Given the description of an element on the screen output the (x, y) to click on. 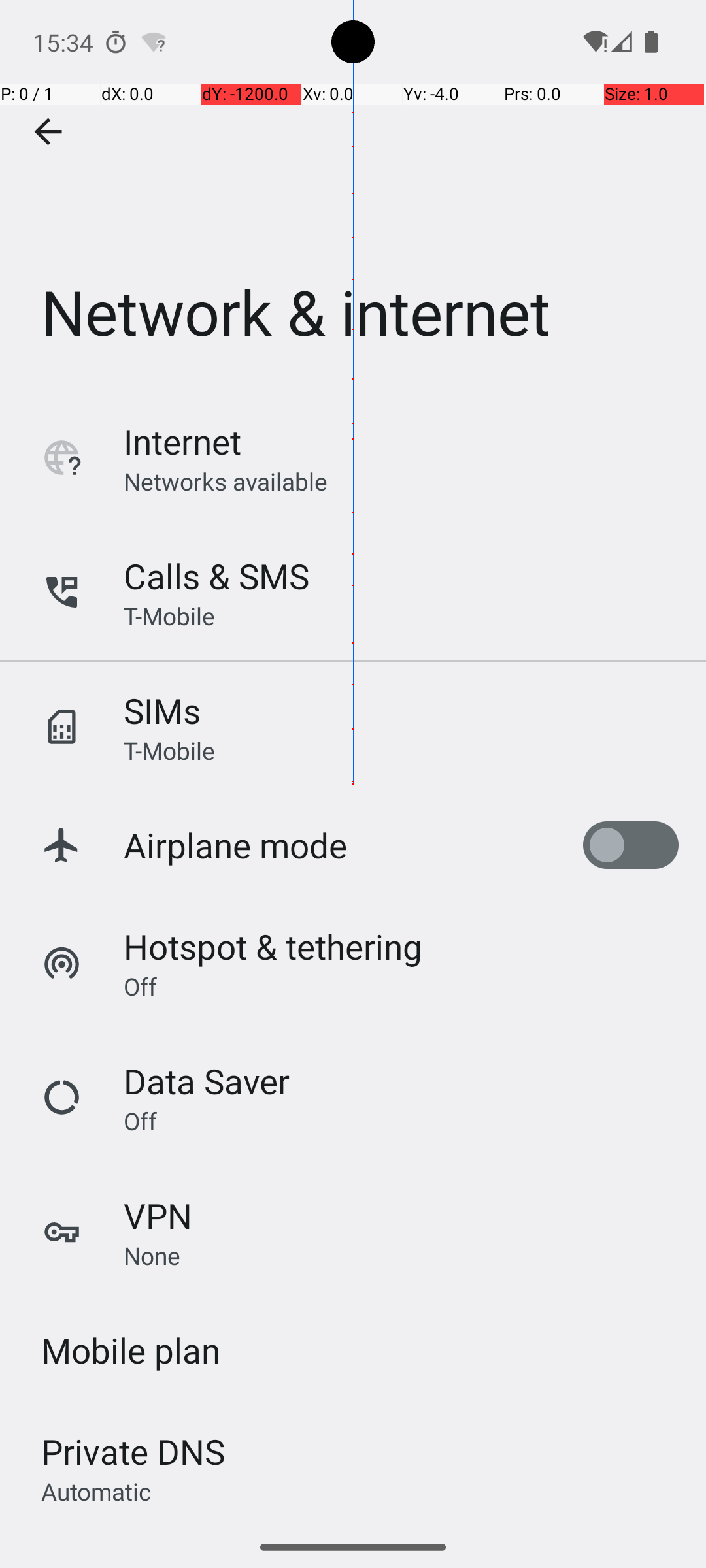
Network & internet Element type: android.widget.FrameLayout (353, 195)
Internet Element type: android.widget.TextView (182, 441)
Networks available Element type: android.widget.TextView (225, 480)
Calls & SMS Element type: android.widget.TextView (216, 575)
T-Mobile Element type: android.widget.TextView (169, 615)
SIMs Element type: android.widget.TextView (161, 710)
Airplane mode Element type: android.widget.TextView (235, 844)
Hotspot & tethering Element type: android.widget.TextView (272, 946)
Off Element type: android.widget.TextView (139, 985)
Data Saver Element type: android.widget.TextView (206, 1080)
VPN Element type: android.widget.TextView (157, 1215)
Mobile plan Element type: android.widget.TextView (130, 1349)
Private DNS Element type: android.widget.TextView (132, 1451)
Automatic Element type: android.widget.TextView (96, 1490)
